Given the description of an element on the screen output the (x, y) to click on. 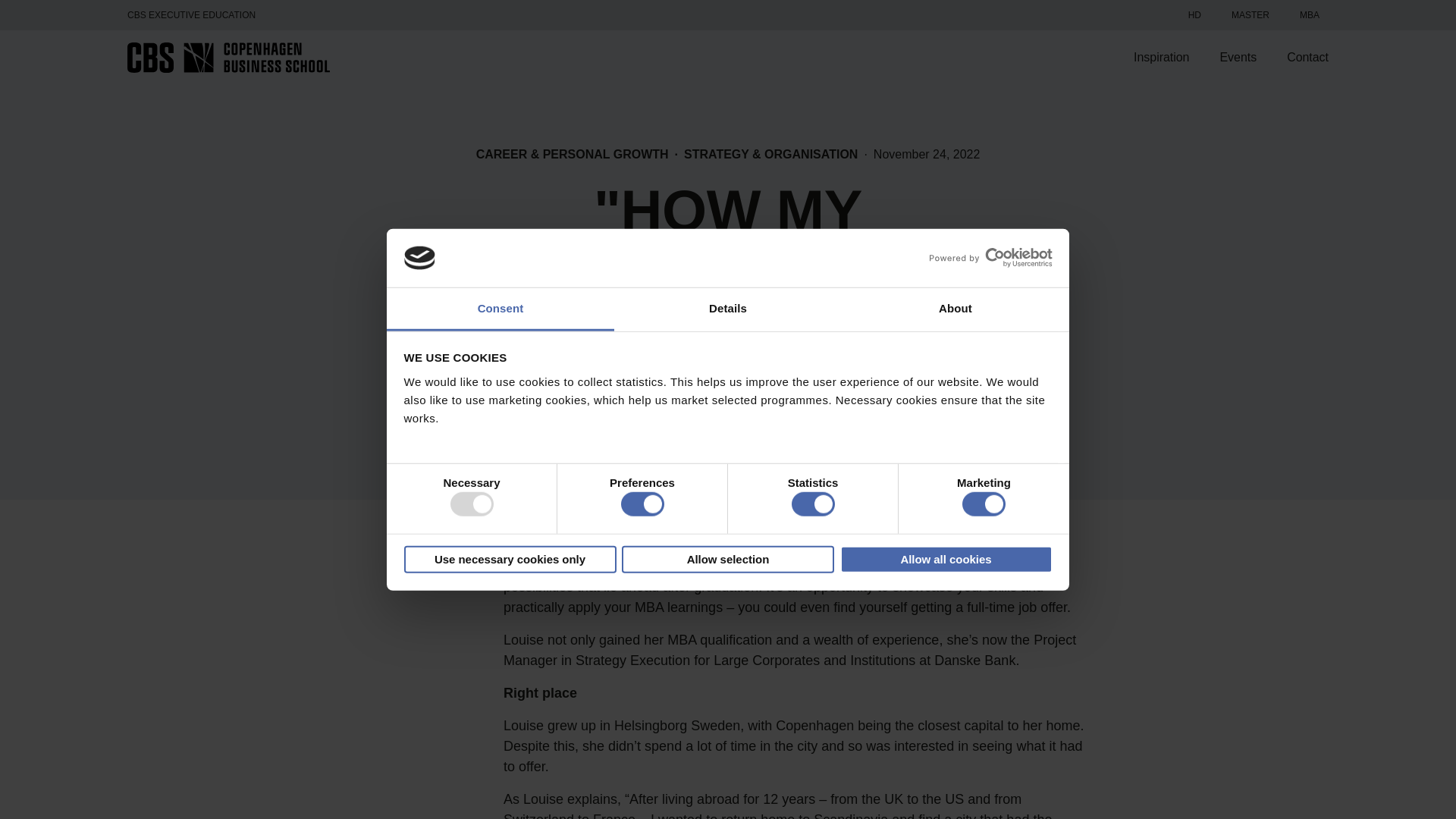
Consent (500, 309)
Details (727, 309)
About (954, 309)
